Given the description of an element on the screen output the (x, y) to click on. 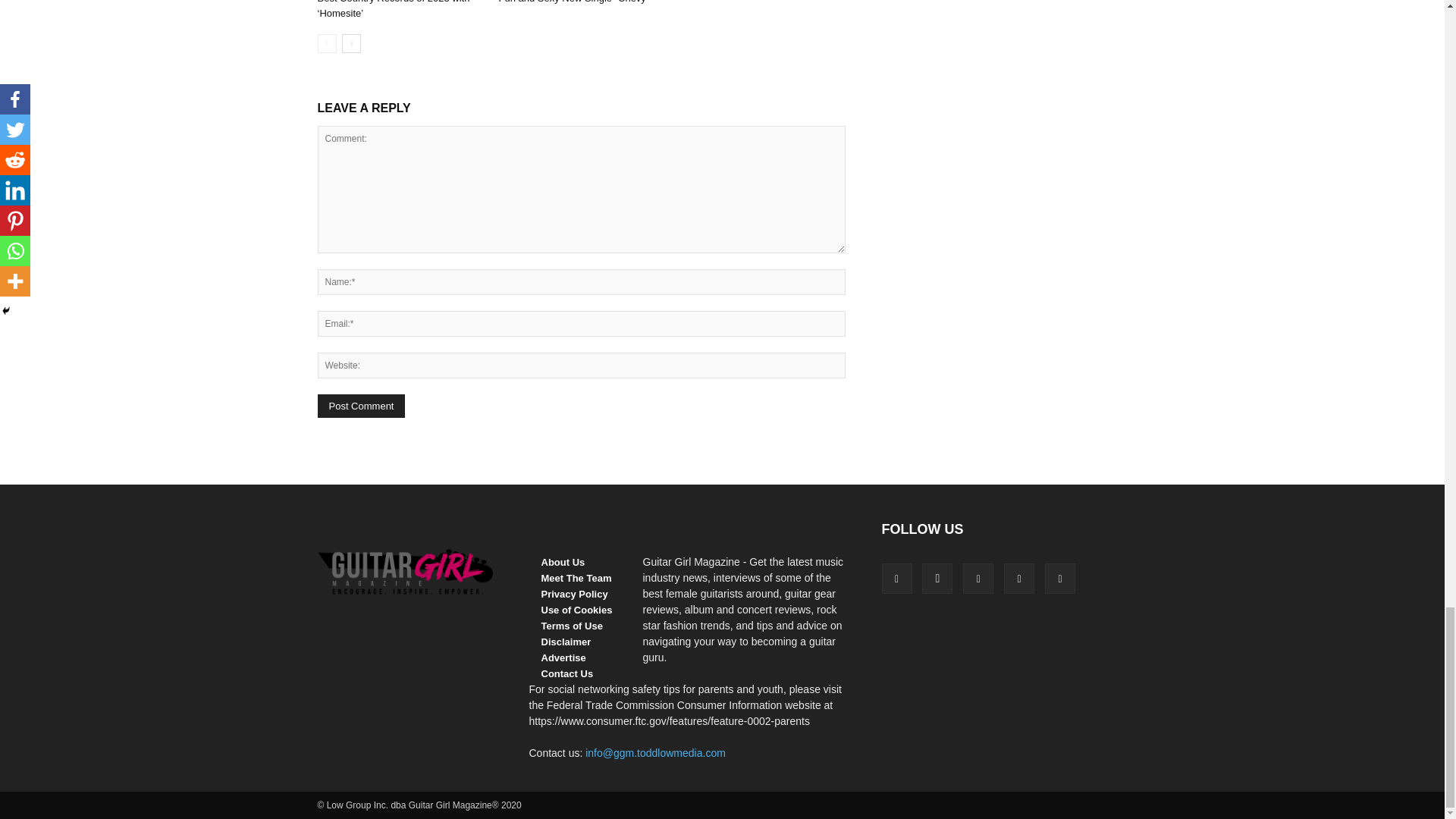
Post Comment (360, 405)
